Given the description of an element on the screen output the (x, y) to click on. 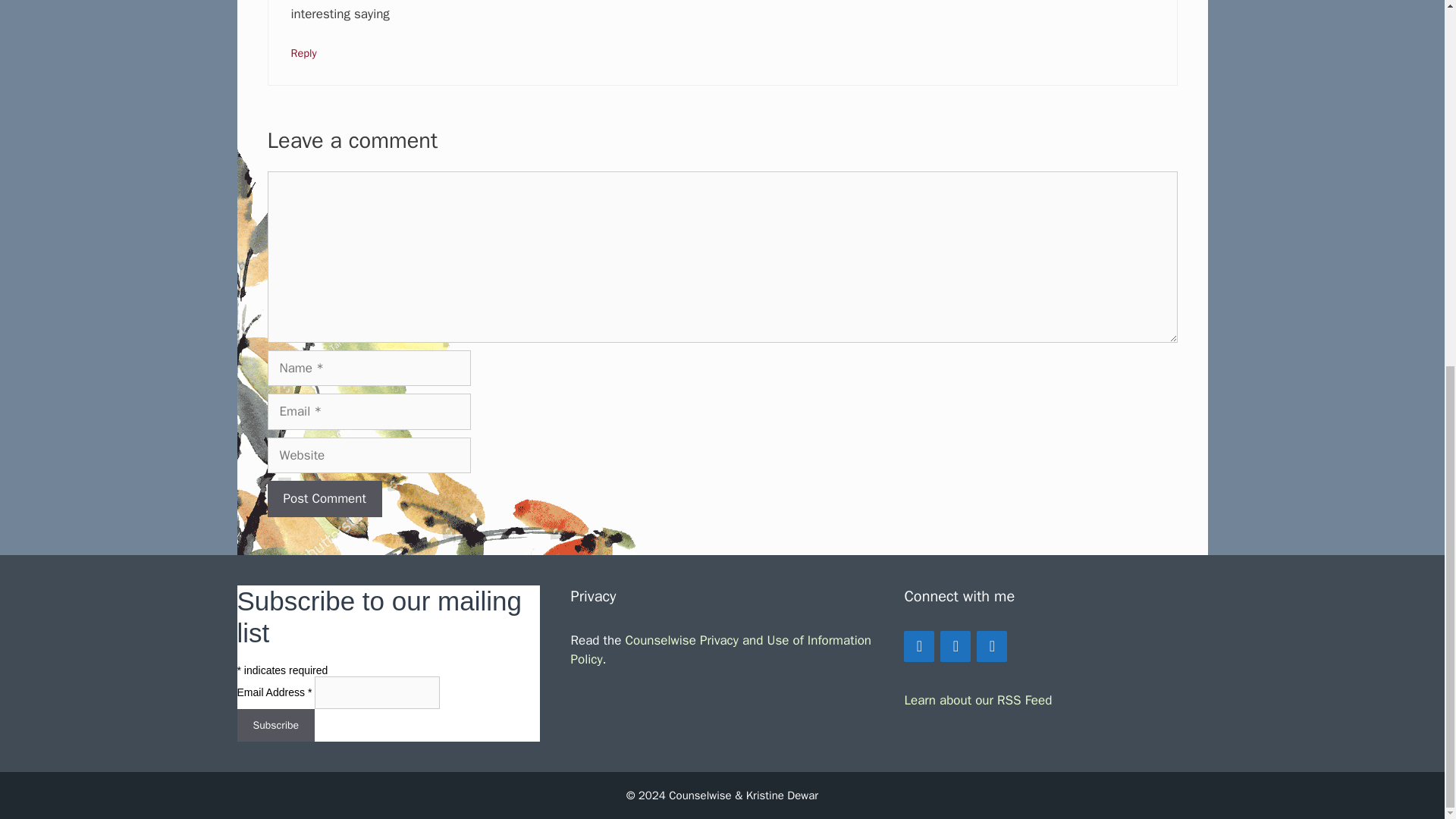
Instagram (955, 645)
Subscribe (274, 725)
Pinterest (991, 645)
Subscribe (274, 725)
Learn about our RSS Feed (977, 700)
Post Comment (323, 498)
Counselwise Privacy and Use of Information Policy. (720, 650)
Facebook (919, 645)
Post Comment (323, 498)
Reply (304, 52)
